Given the description of an element on the screen output the (x, y) to click on. 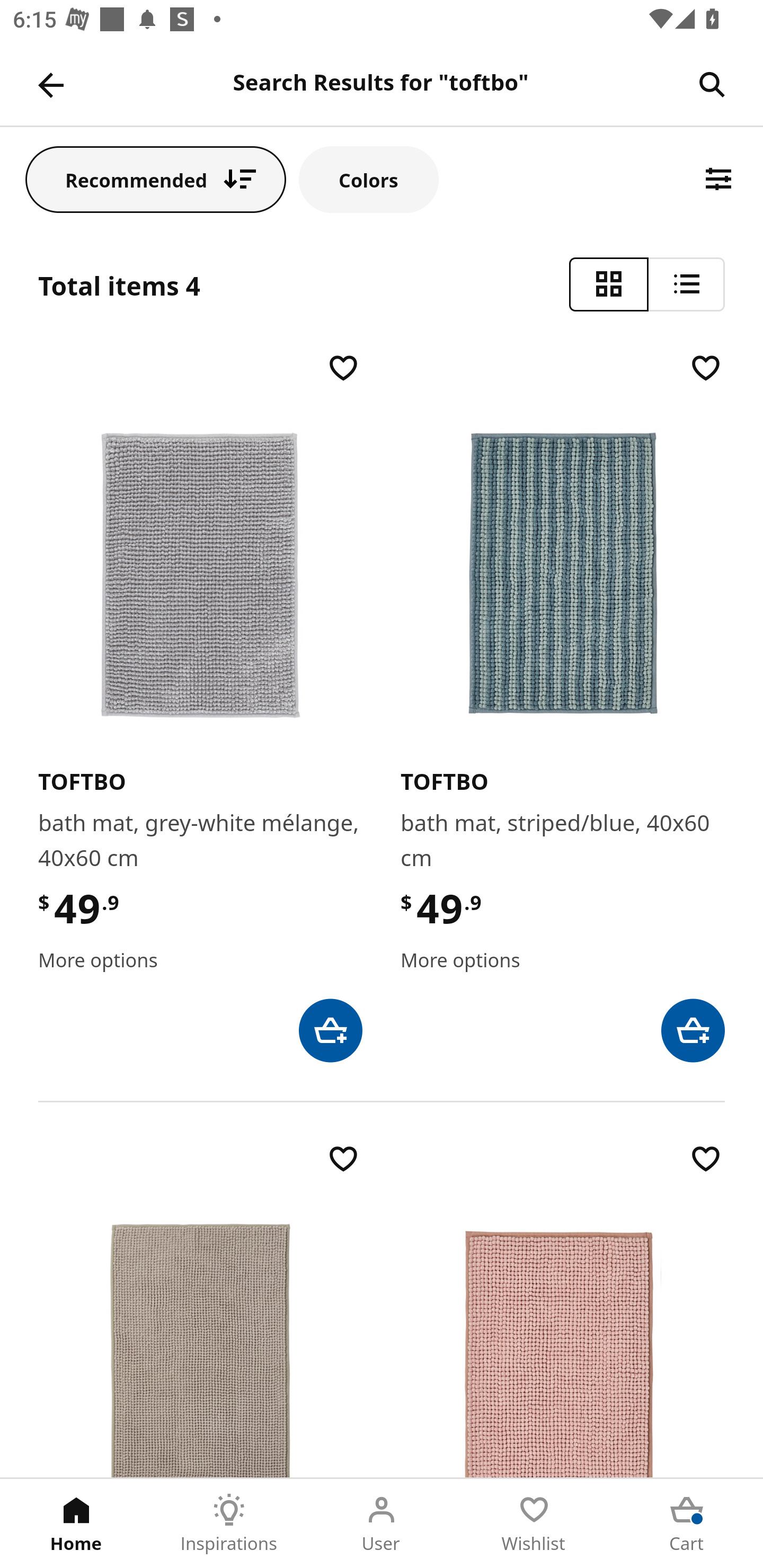
Recommended (155, 179)
Colors (368, 179)
Home
Tab 1 of 5 (76, 1522)
Inspirations
Tab 2 of 5 (228, 1522)
User
Tab 3 of 5 (381, 1522)
Wishlist
Tab 4 of 5 (533, 1522)
Cart
Tab 5 of 5 (686, 1522)
